Given the description of an element on the screen output the (x, y) to click on. 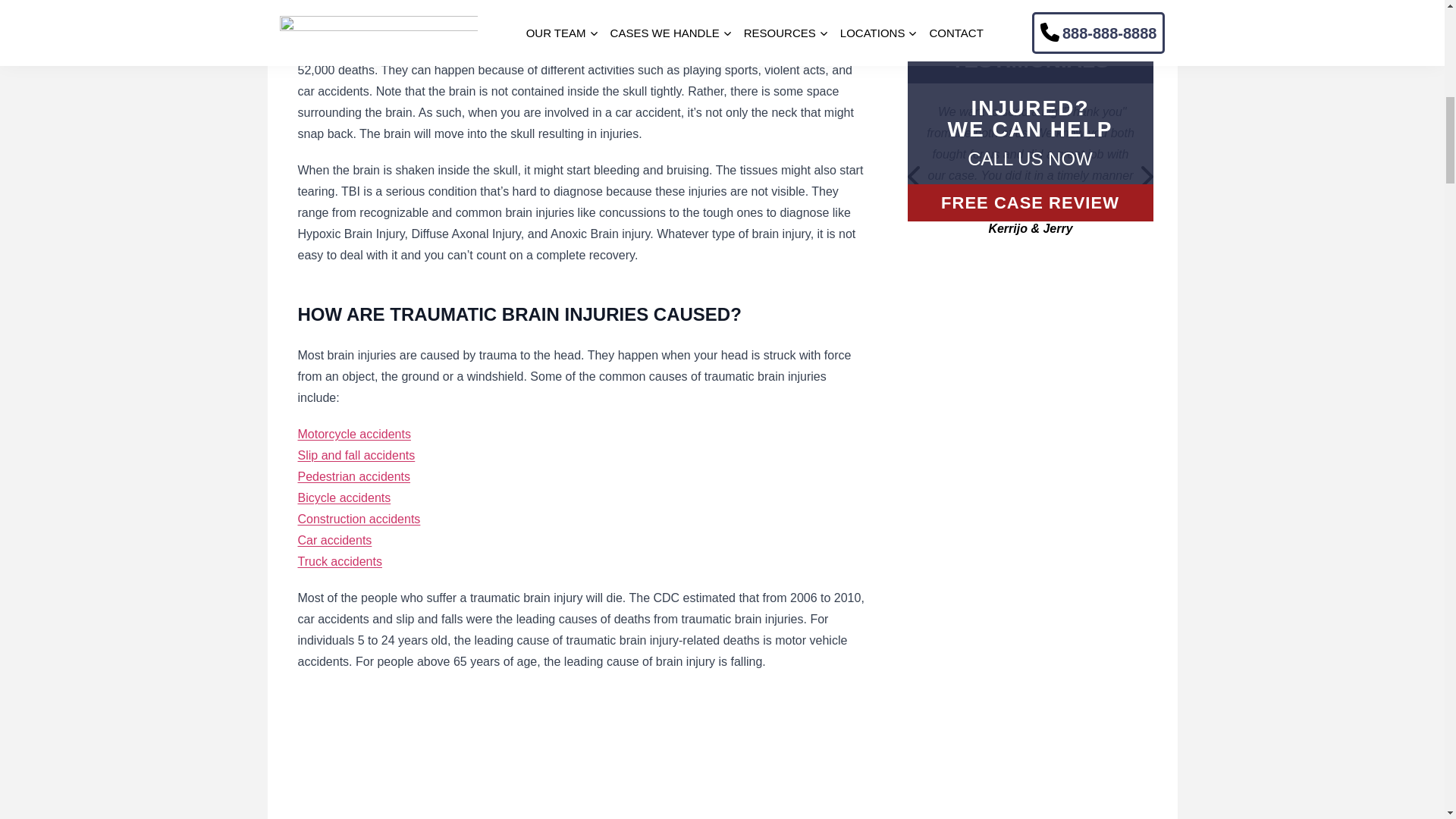
Bronx Traumatic Brain Injury Lawyer (487, 753)
Send (1030, 2)
